Given the description of an element on the screen output the (x, y) to click on. 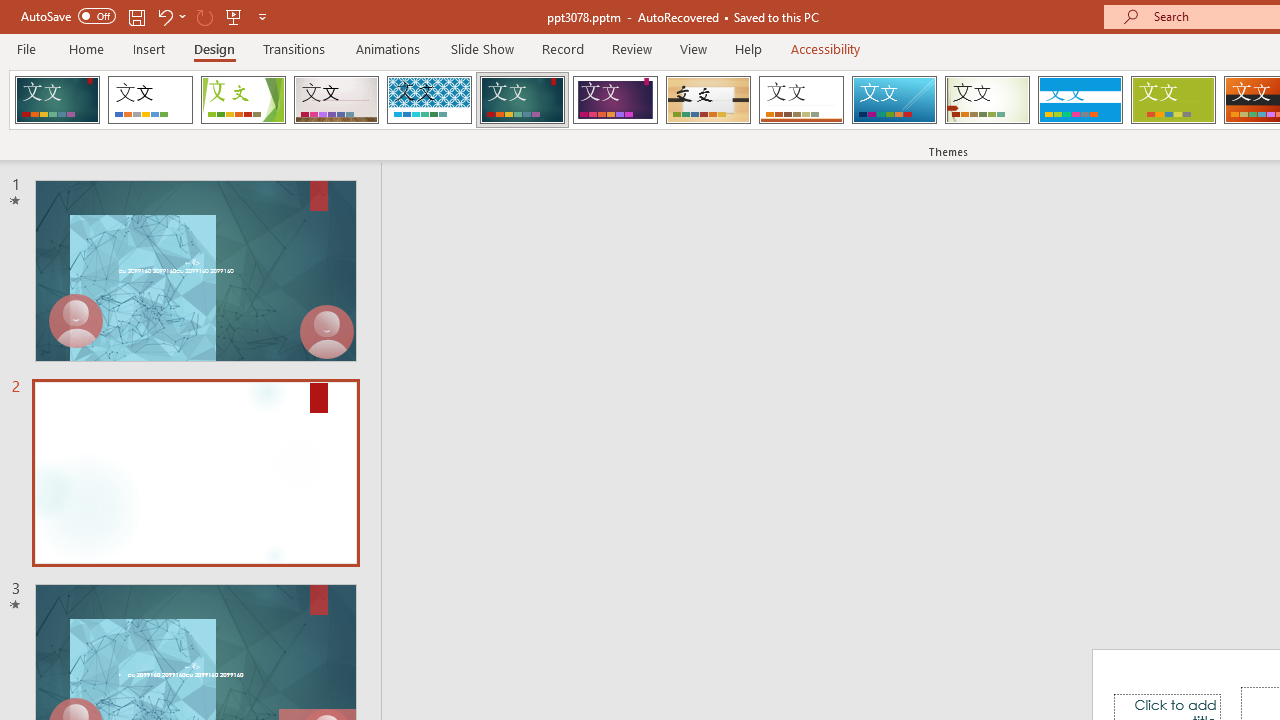
Retrospect (801, 100)
Slice (893, 100)
